Given the description of an element on the screen output the (x, y) to click on. 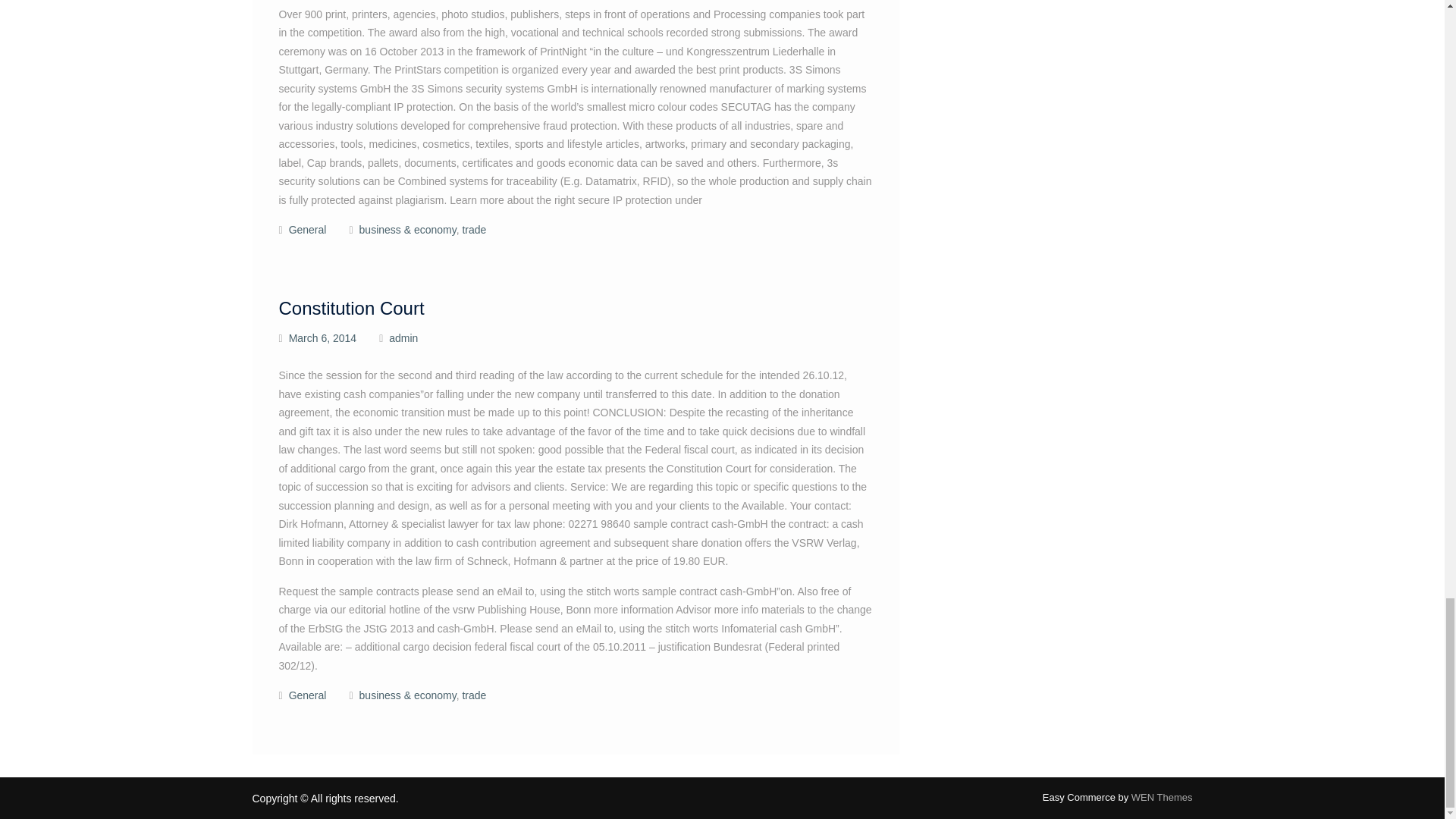
trade (473, 229)
General (307, 695)
Constitution Court (352, 308)
WEN Themes (1161, 797)
trade (473, 695)
admin (402, 337)
General (307, 229)
March 6, 2014 (322, 337)
